Given the description of an element on the screen output the (x, y) to click on. 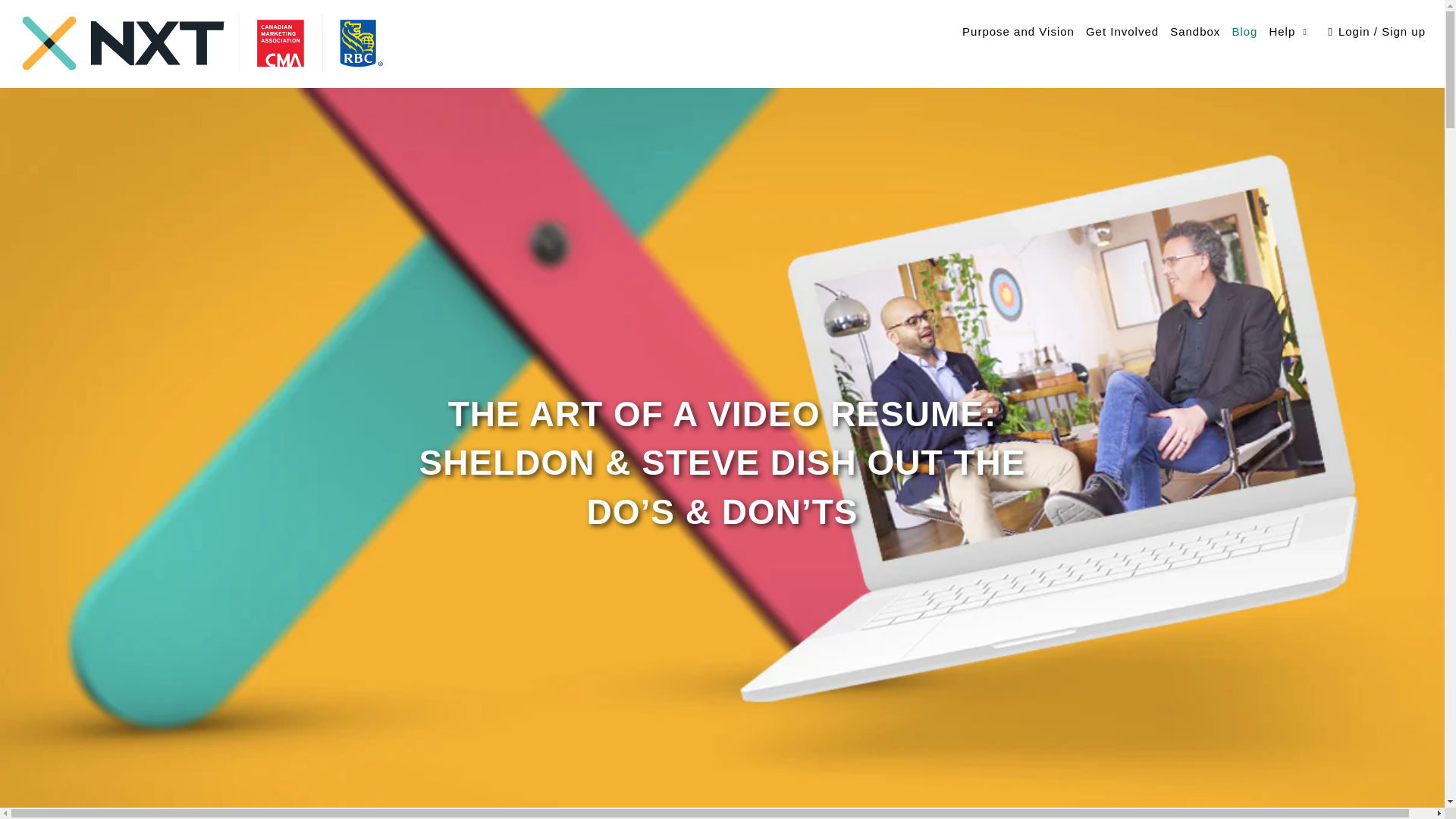
Help (1289, 32)
CMA NXT (223, 43)
Get Involved (1122, 32)
Purpose and Vision (1018, 32)
Sandbox (1195, 32)
